Given the description of an element on the screen output the (x, y) to click on. 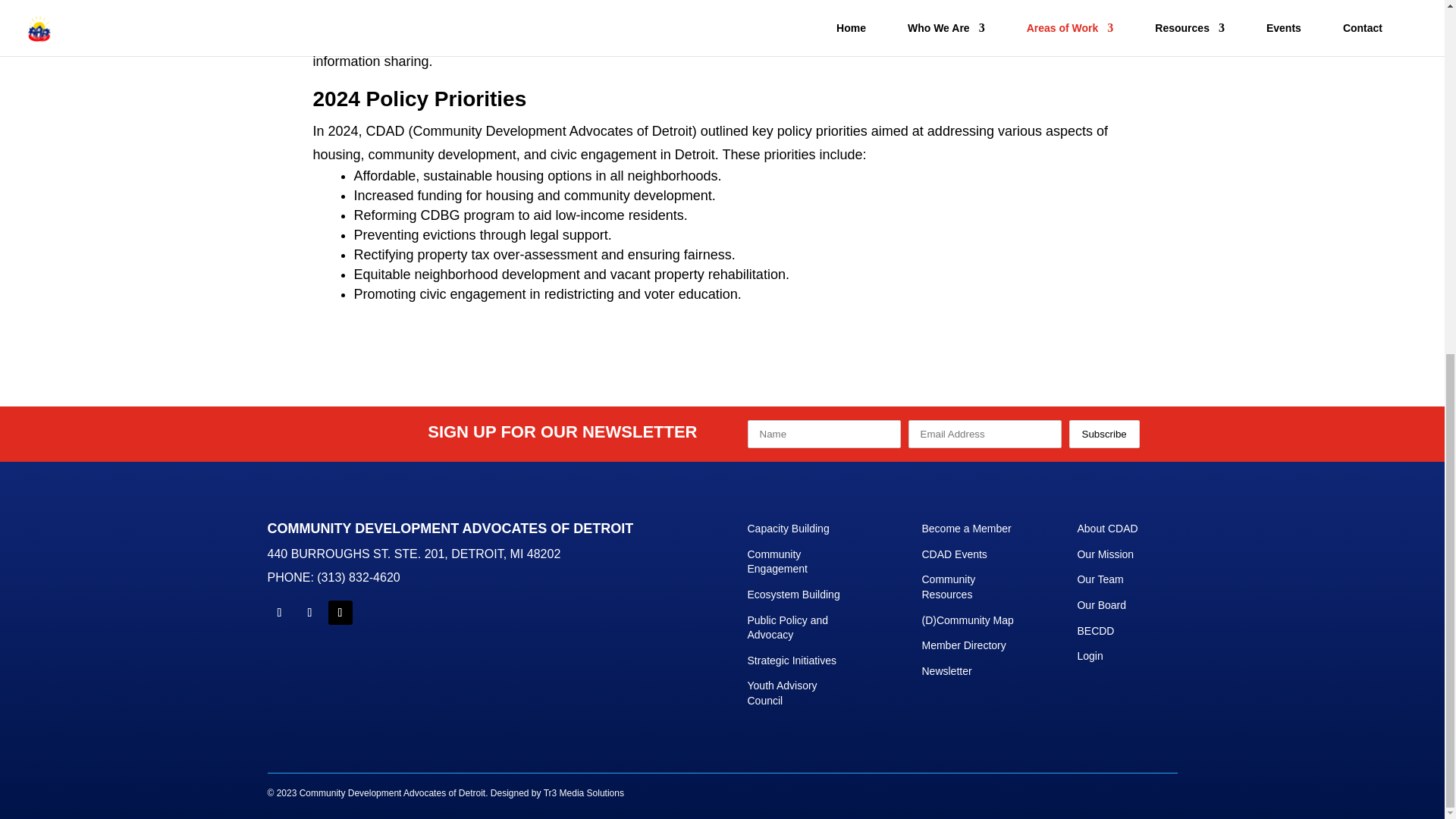
Subscribe (1104, 433)
Follow on Instagram (309, 612)
Follow on Facebook (278, 612)
Who We Are (1107, 528)
Follow on X (339, 612)
